Given the description of an element on the screen output the (x, y) to click on. 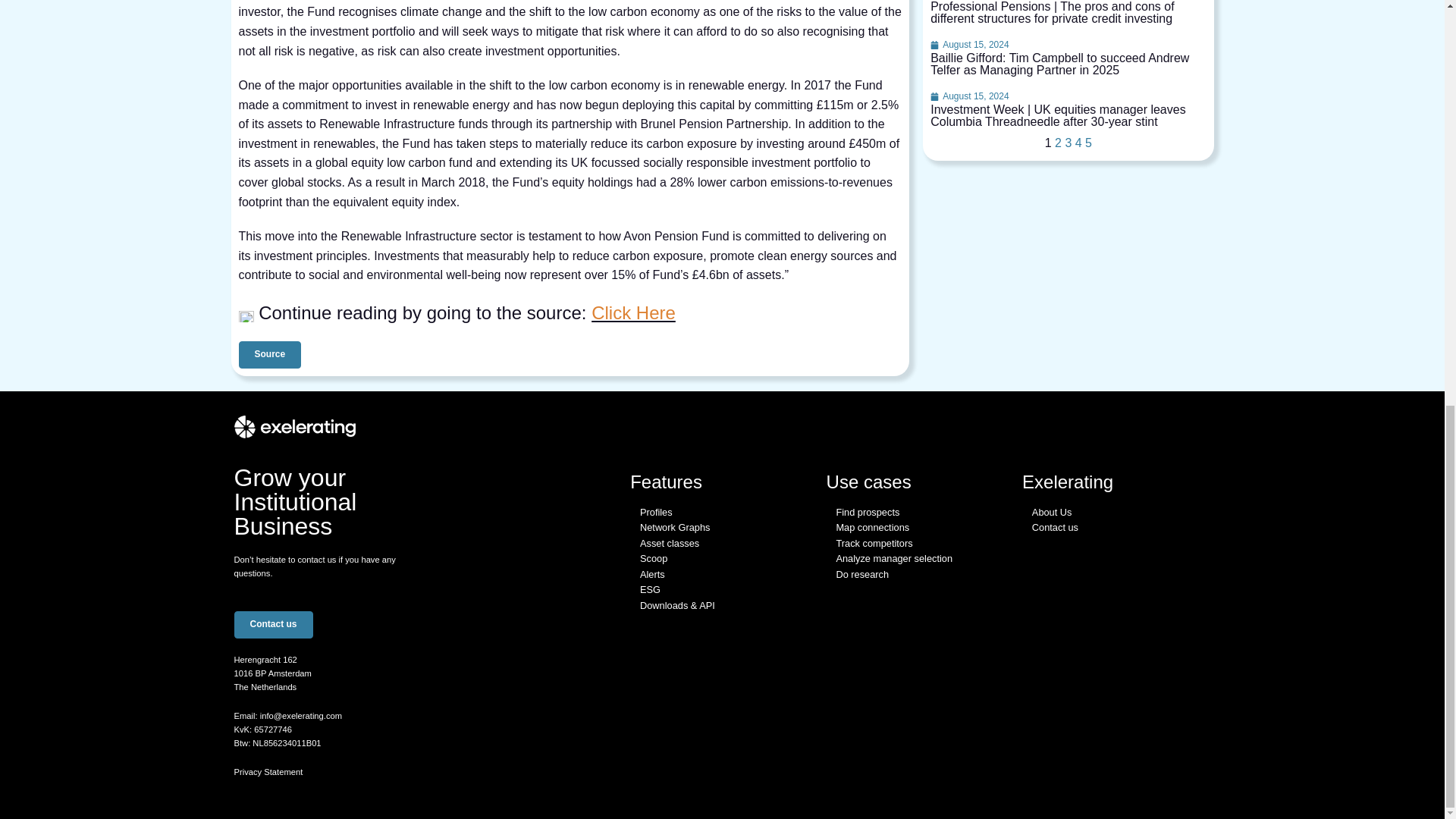
Network Graphs (675, 527)
Source (269, 354)
Click Here (633, 312)
Privacy Statement (267, 771)
Profiles (656, 511)
Contact us (272, 624)
